Given the description of an element on the screen output the (x, y) to click on. 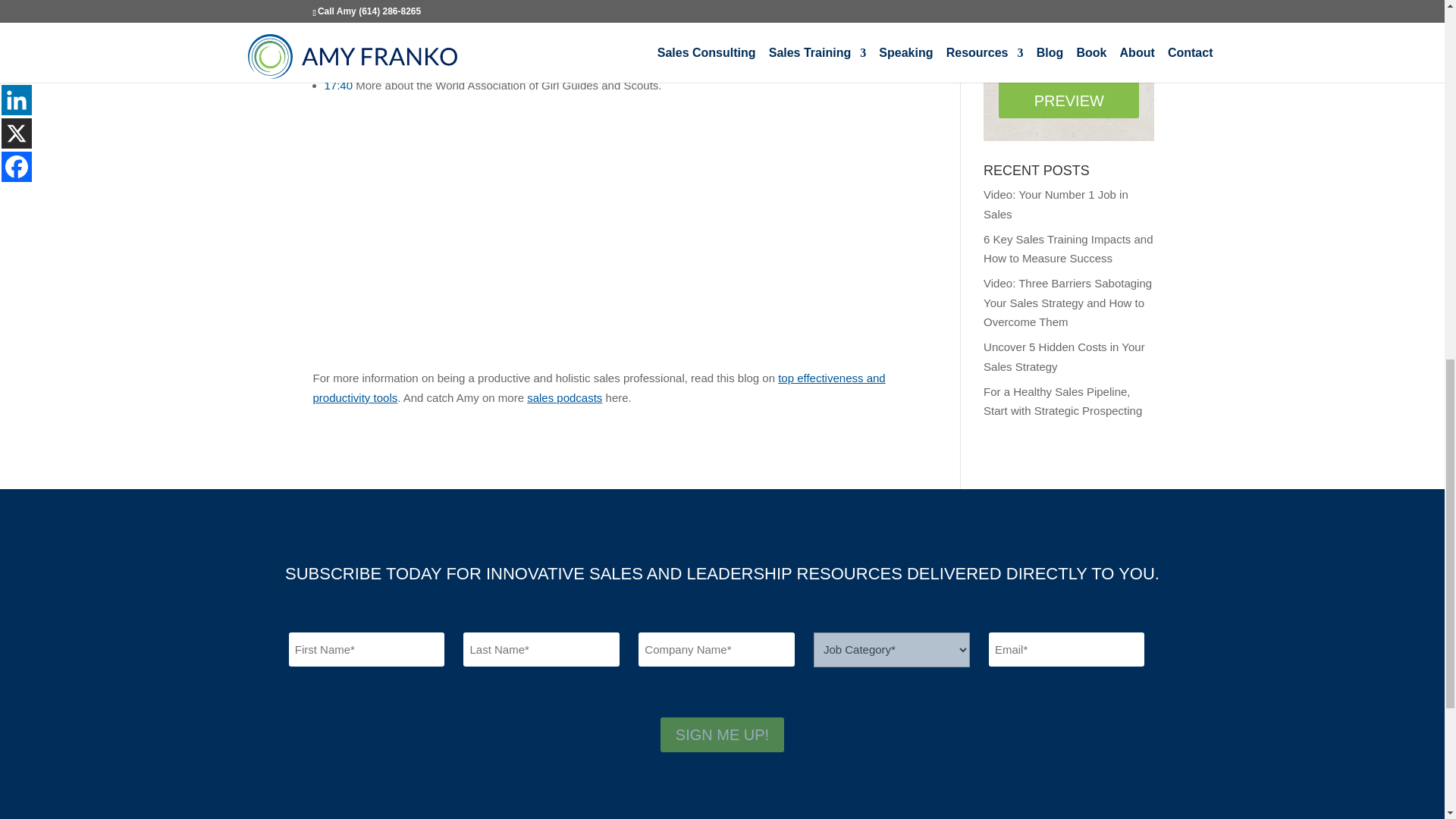
3:23 (335, 45)
11:44 (338, 25)
Sign Me Up! (722, 734)
09:51 (338, 6)
16:00 (338, 65)
top effectiveness and productivity tools (599, 387)
sales podcasts (564, 397)
YouTube video player (524, 232)
17:40 (338, 84)
